Given the description of an element on the screen output the (x, y) to click on. 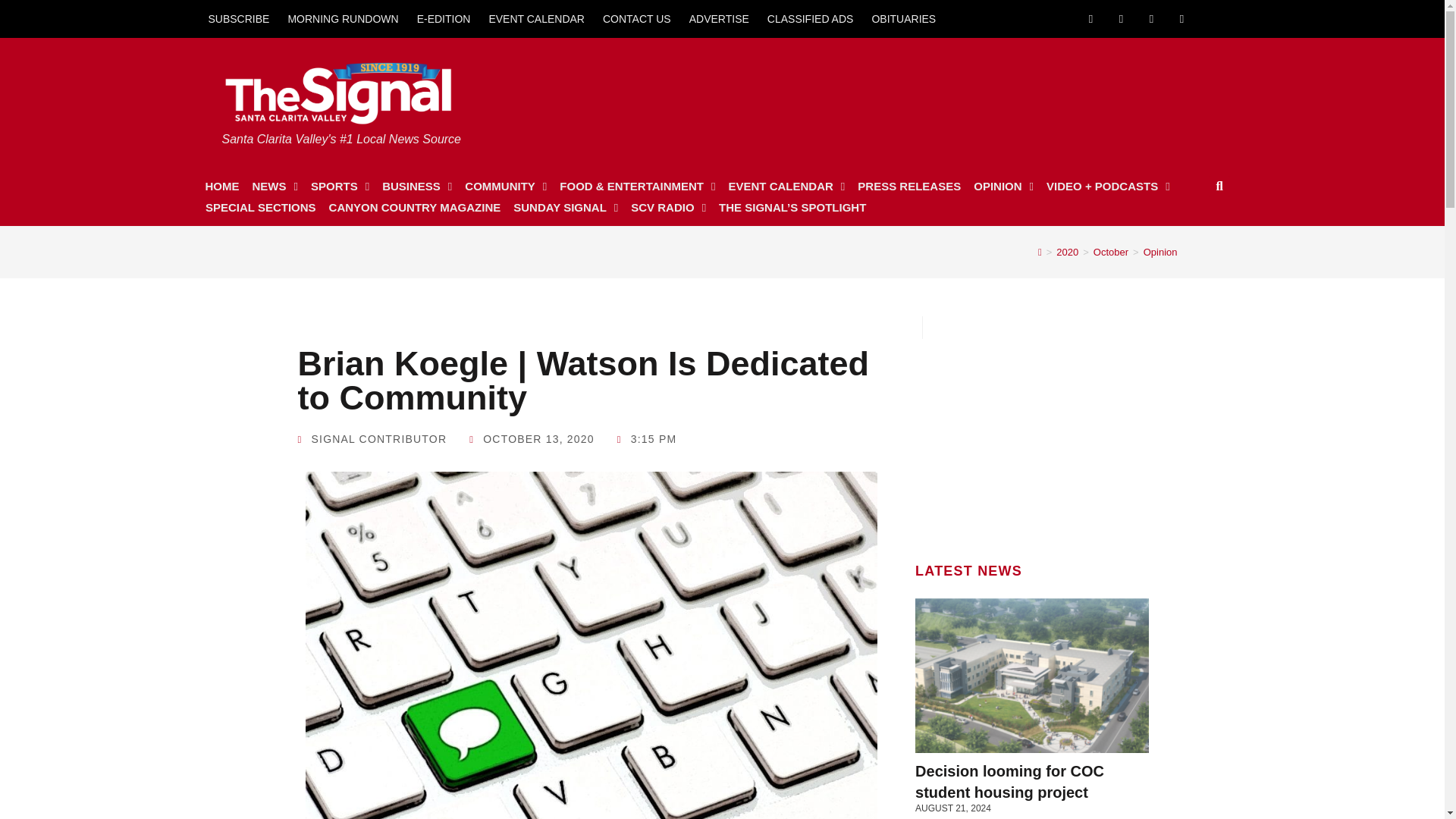
EVENT CALENDAR (536, 18)
MORNING RUNDOWN (342, 18)
SUBSCRIBE (238, 18)
HOME (221, 186)
3rd party ad content (1031, 433)
CLASSIFIED ADS (810, 18)
OBITUARIES (902, 18)
E-EDITION (443, 18)
NEWS (274, 186)
CONTACT US (636, 18)
